Given the description of an element on the screen output the (x, y) to click on. 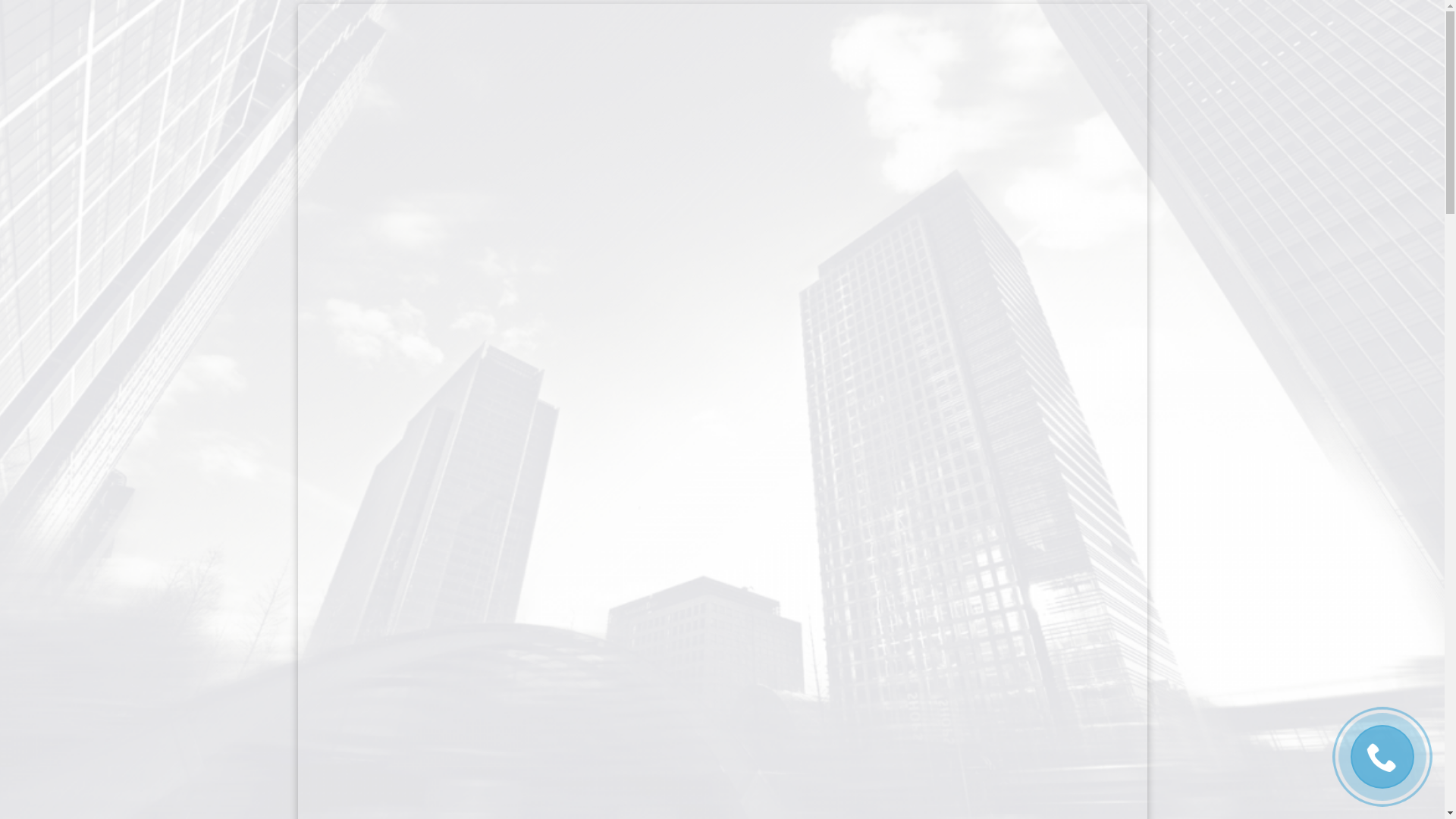
Skip to content Element type: text (0, 3)
